Given the description of an element on the screen output the (x, y) to click on. 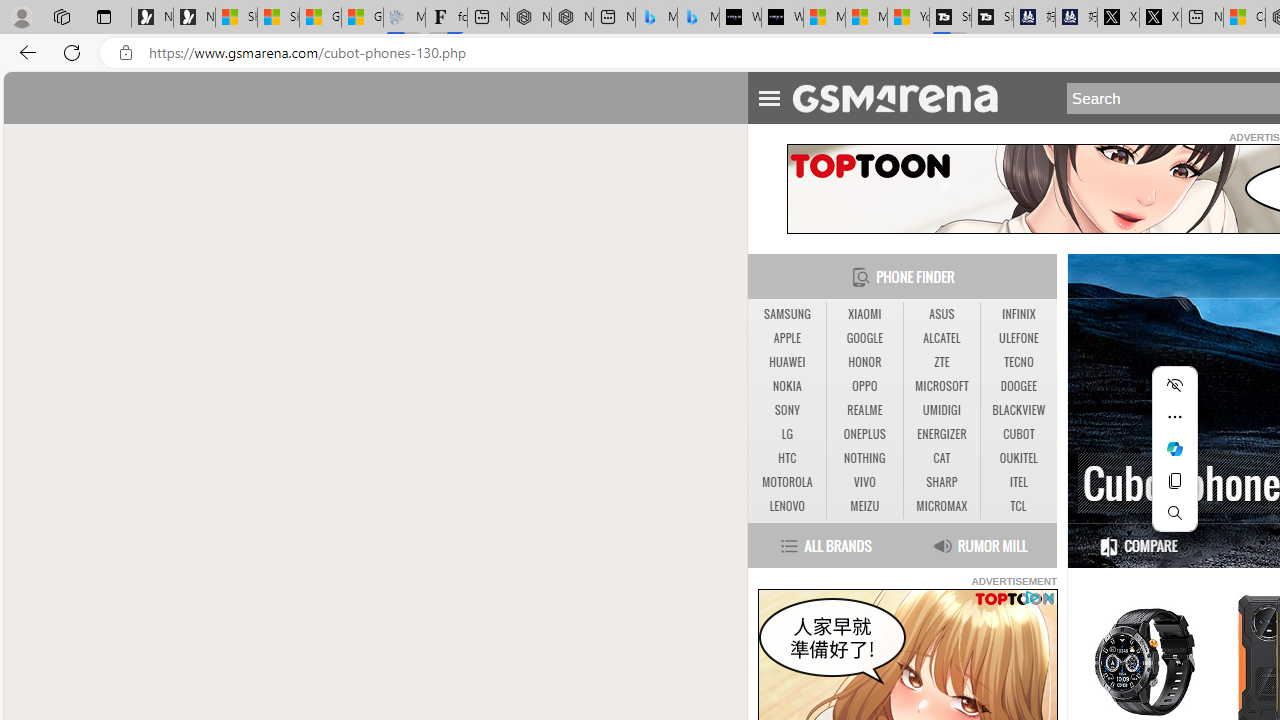
Copy (1174, 480)
X (1160, 17)
NOTHING (863, 457)
HUAWEI (786, 362)
DOOGEE (1018, 386)
MICROSOFT (941, 385)
What's the best AI voice generator? - voice.ai (781, 17)
OUKITEL (1018, 458)
ONEPLUS (863, 434)
Class: privacy_out (1030, 596)
INFINIX (1018, 313)
ALCATEL (941, 339)
HONOR (863, 362)
MICROMAX (941, 506)
